Given the description of an element on the screen output the (x, y) to click on. 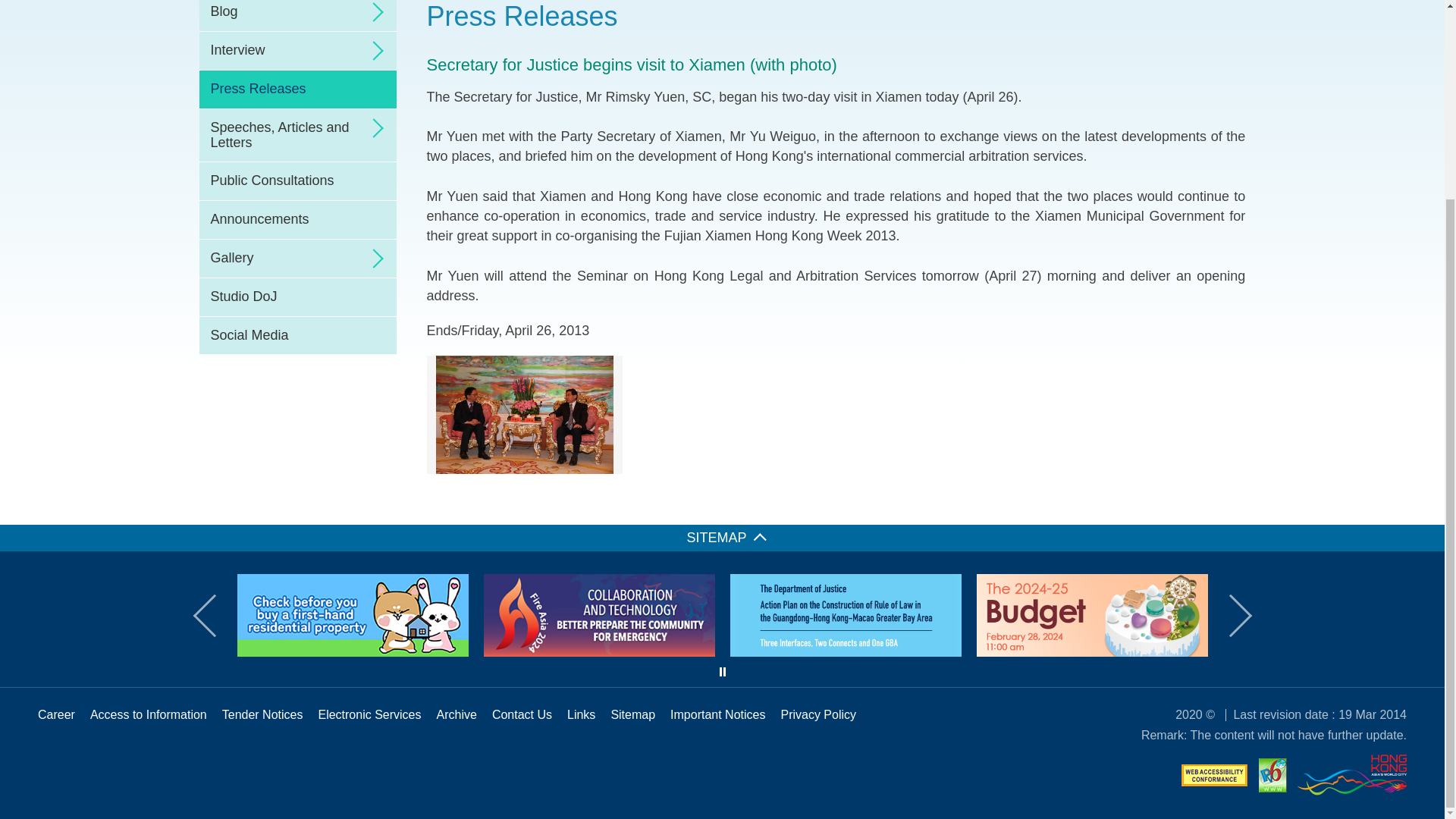
Speeches, Articles and Letters (297, 135)
Press Releases (297, 89)
Interview (297, 50)
Blog (297, 15)
